Given the description of an element on the screen output the (x, y) to click on. 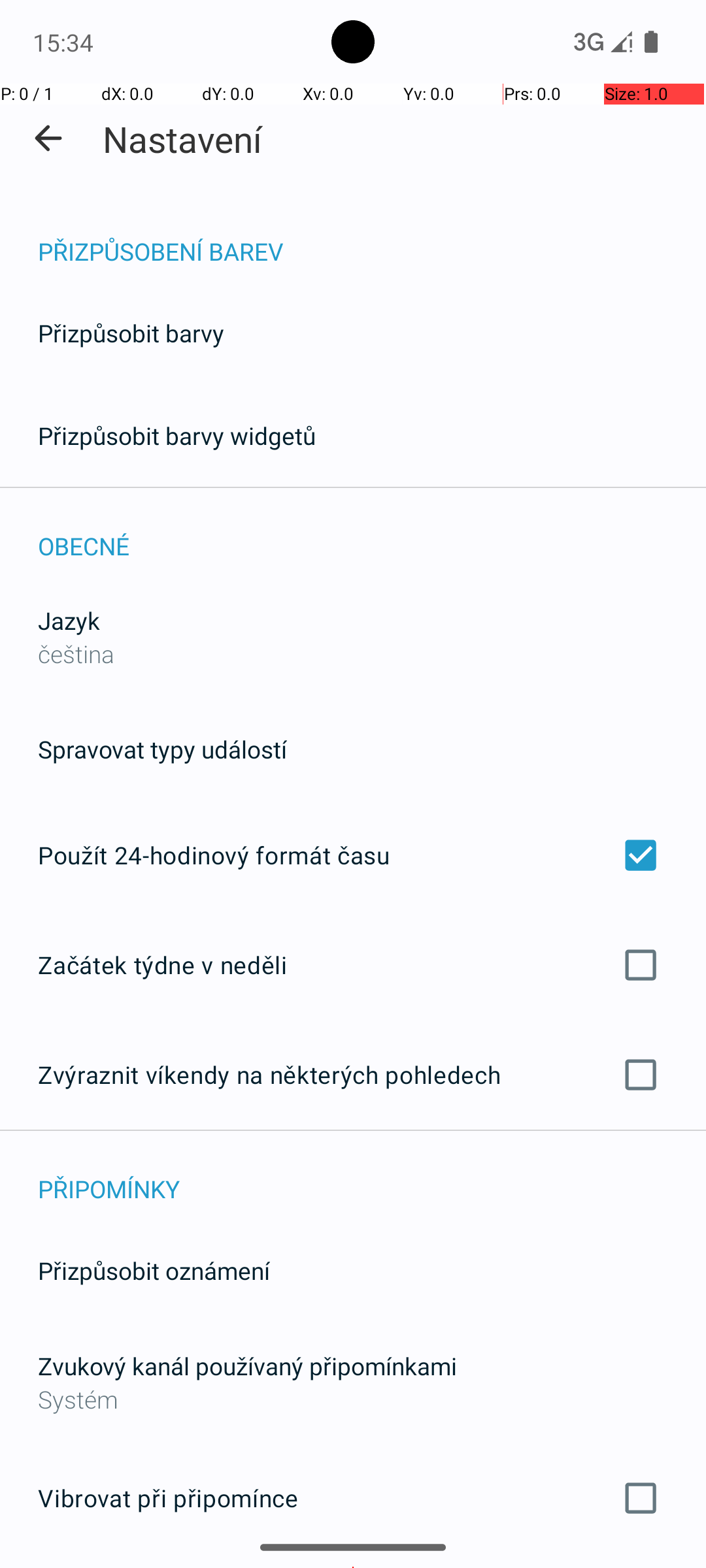
PŘIZPŮSOBENÍ BAREV Element type: android.widget.TextView (371, 237)
OBECNÉ Element type: android.widget.TextView (371, 532)
PŘIPOMÍNKY Element type: android.widget.TextView (371, 1174)
Přizpůsobit barvy Element type: android.widget.TextView (130, 332)
Přizpůsobit barvy widgetů Element type: android.widget.TextView (176, 435)
Jazyk Element type: android.widget.TextView (68, 620)
čeština Element type: android.widget.TextView (75, 653)
Spravovat typy událostí Element type: android.widget.TextView (161, 748)
Použít 24-hodinový formát času Element type: android.widget.CheckBox (352, 855)
Začátek týdne v neděli Element type: android.widget.CheckBox (352, 964)
Zvýraznit víkendy na některých pohledech Element type: android.widget.CheckBox (352, 1074)
Přizpůsobit oznámení Element type: android.widget.TextView (153, 1270)
Zvukový kanál používaný připomínkami Element type: android.widget.TextView (246, 1365)
Systém Element type: android.widget.TextView (352, 1398)
Vibrovat při připomínce Element type: android.widget.CheckBox (352, 1497)
Opakovat připomínky až do zamítnutí Element type: android.widget.CheckBox (352, 1567)
